Given the description of an element on the screen output the (x, y) to click on. 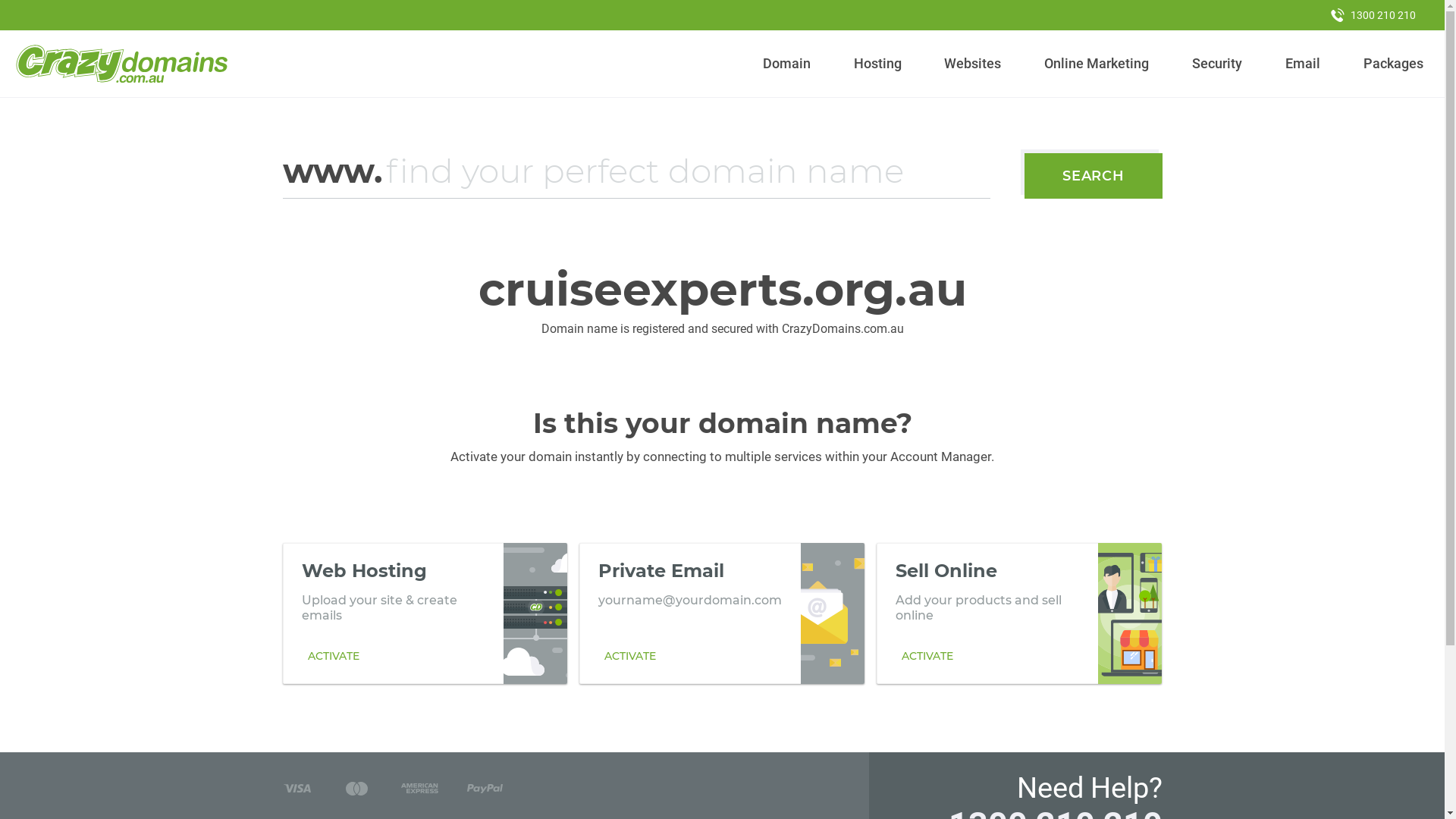
Domain Element type: text (786, 63)
Web Hosting
Upload your site & create emails
ACTIVATE Element type: text (424, 613)
1300 210 210 Element type: text (1373, 15)
Online Marketing Element type: text (1096, 63)
Packages Element type: text (1392, 63)
SEARCH Element type: text (1092, 175)
Security Element type: text (1217, 63)
Websites Element type: text (972, 63)
Hosting Element type: text (877, 63)
Sell Online
Add your products and sell online
ACTIVATE Element type: text (1018, 613)
Private Email
yourname@yourdomain.com
ACTIVATE Element type: text (721, 613)
Email Element type: text (1302, 63)
